Given the description of an element on the screen output the (x, y) to click on. 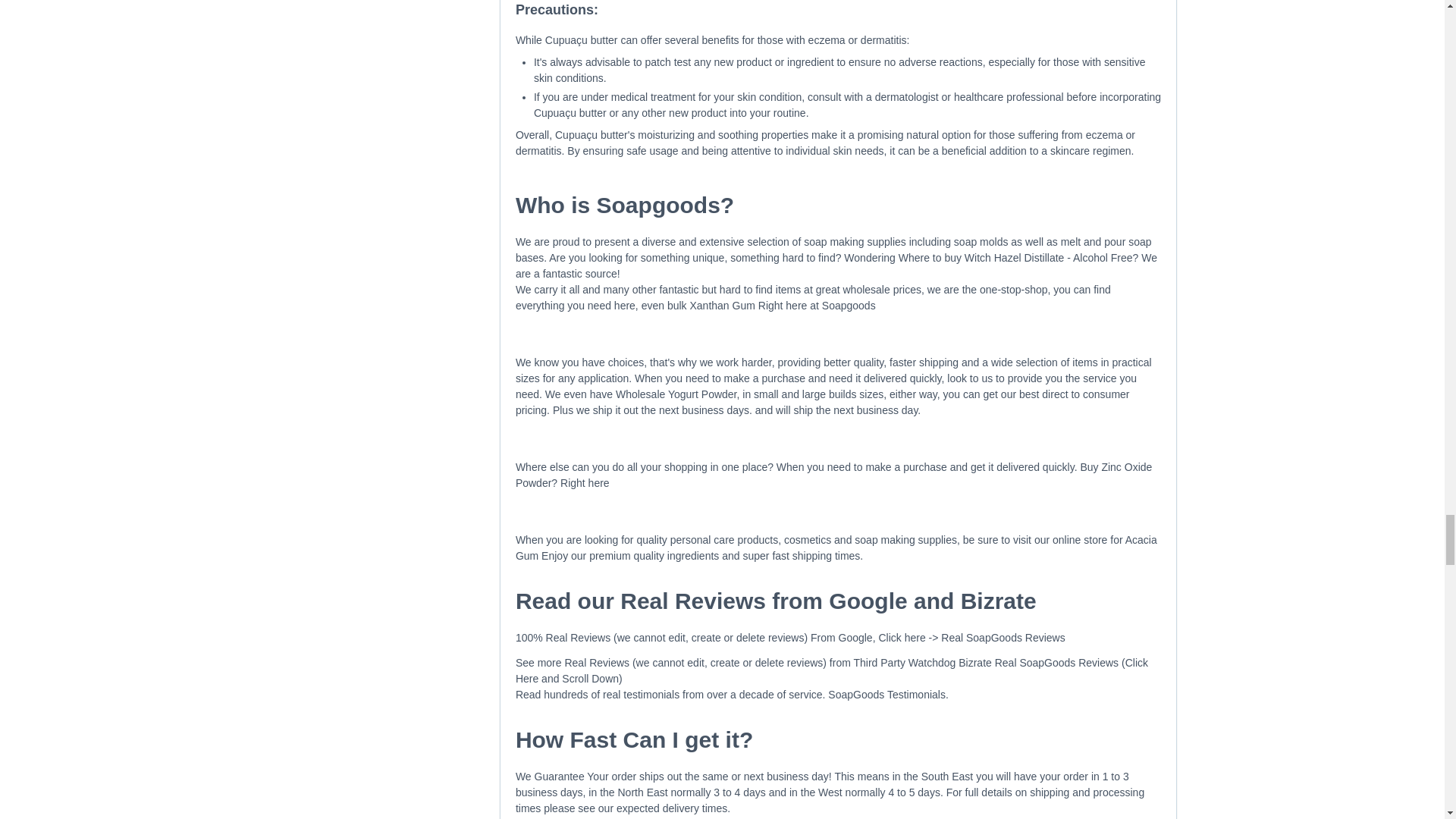
Link to Soapgoods (854, 241)
